Given the description of an element on the screen output the (x, y) to click on. 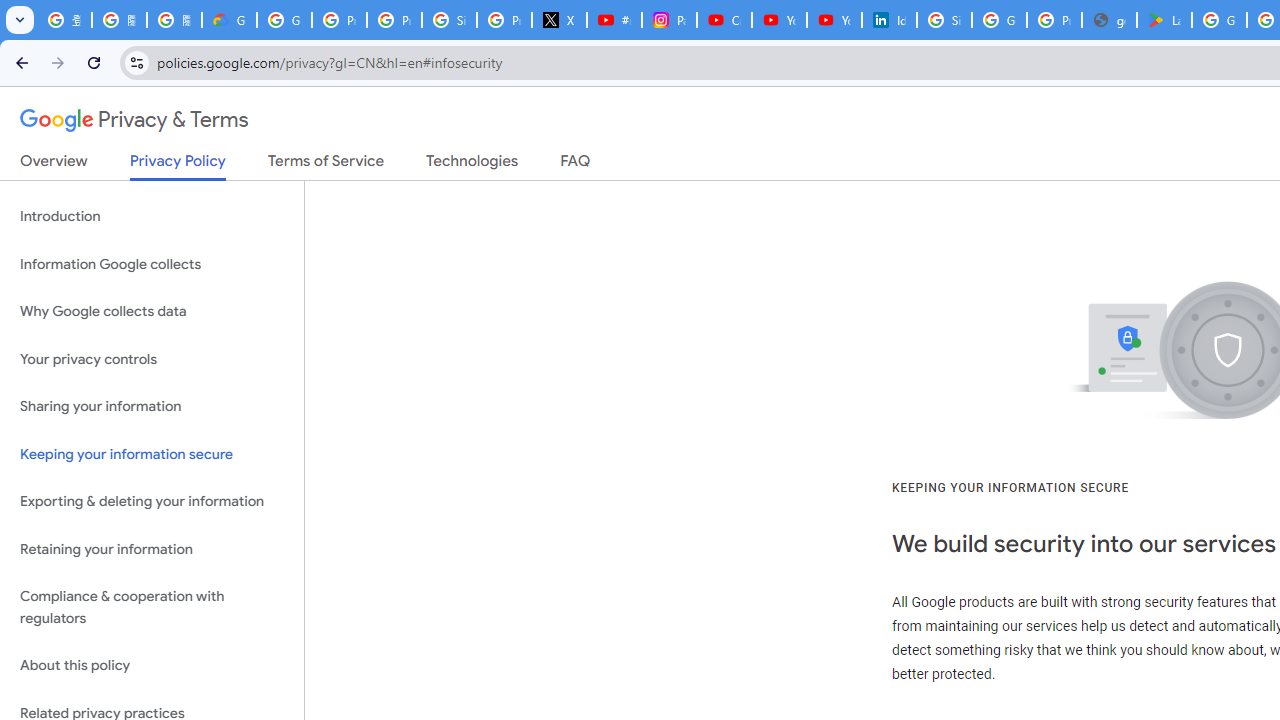
Sign in - Google Accounts (943, 20)
#nbabasketballhighlights - YouTube (614, 20)
Search tabs (20, 20)
Sharing your information (152, 407)
Introduction (152, 216)
X (559, 20)
Keeping your information secure (152, 453)
Reload (93, 62)
Privacy & Terms (134, 120)
Technologies (472, 165)
Identity verification via Persona | LinkedIn Help (888, 20)
